Given the description of an element on the screen output the (x, y) to click on. 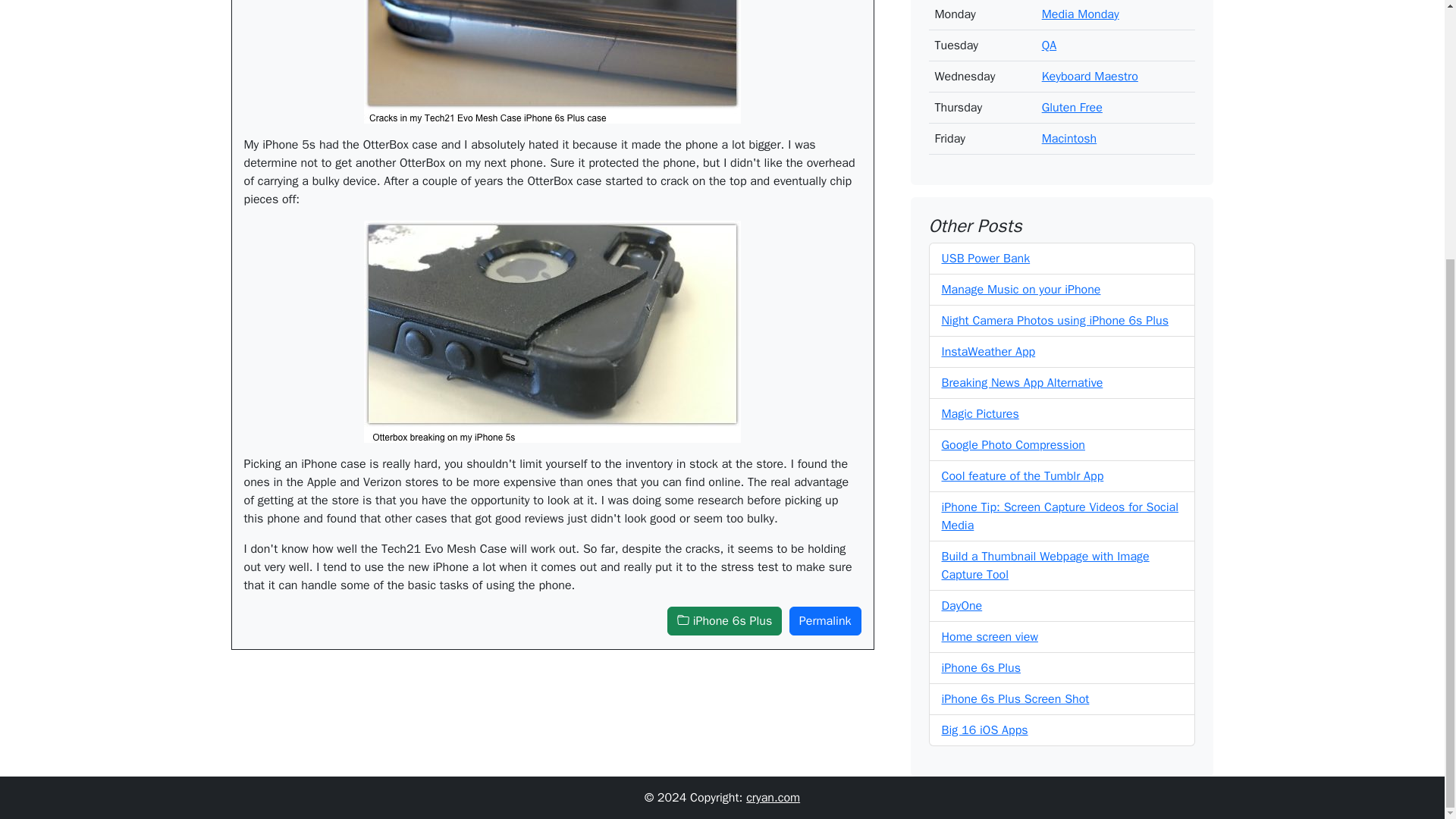
Keyboard Maestro (1090, 64)
USB Power Bank (986, 246)
iPhone 6s Plus (982, 655)
Build a Thumbnail Webpage with Image Capture Tool (1046, 553)
DayOne (962, 593)
Gluten Free (1072, 95)
Manage Music on your iPhone (1021, 277)
Permalink (825, 620)
Breaking News App Alternative (1022, 370)
iPhone 6s Plus (723, 620)
